Given the description of an element on the screen output the (x, y) to click on. 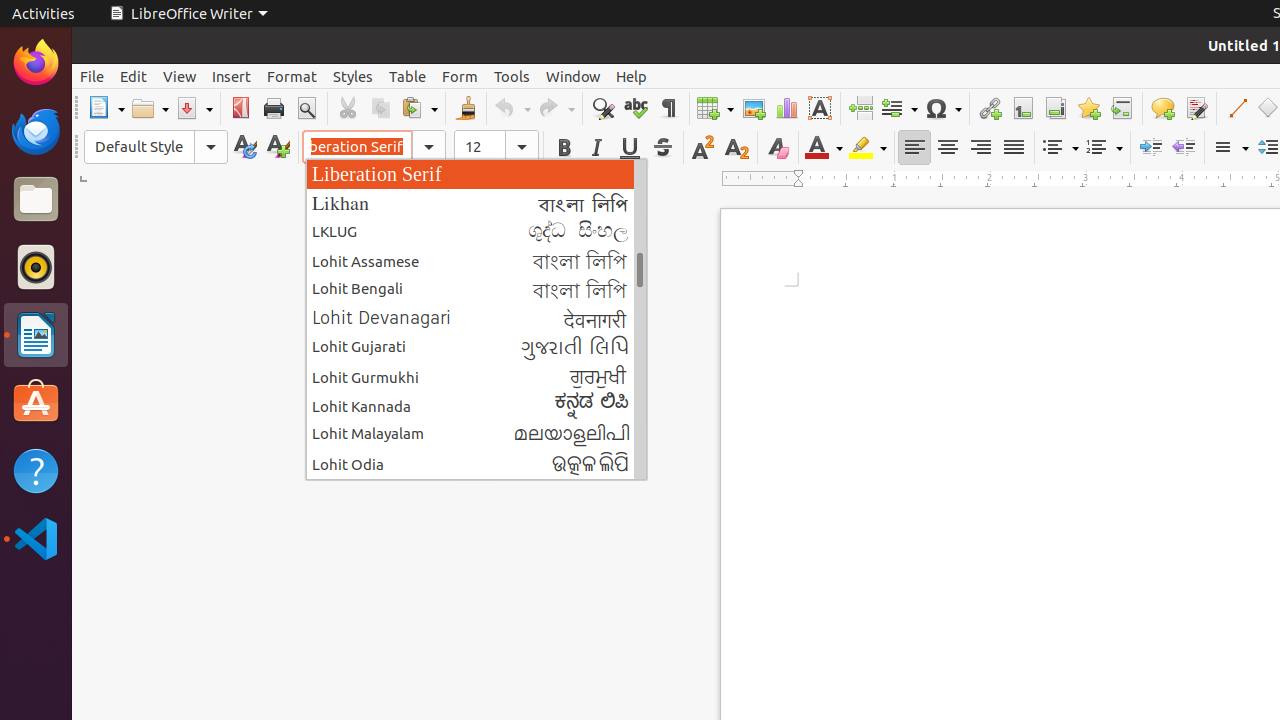
Undo Element type: push-button (512, 108)
Tools Element type: menu (512, 76)
View Element type: menu (179, 76)
Rhythmbox Element type: push-button (36, 267)
Lohit Assamese Element type: list-item (476, 260)
